Given the description of an element on the screen output the (x, y) to click on. 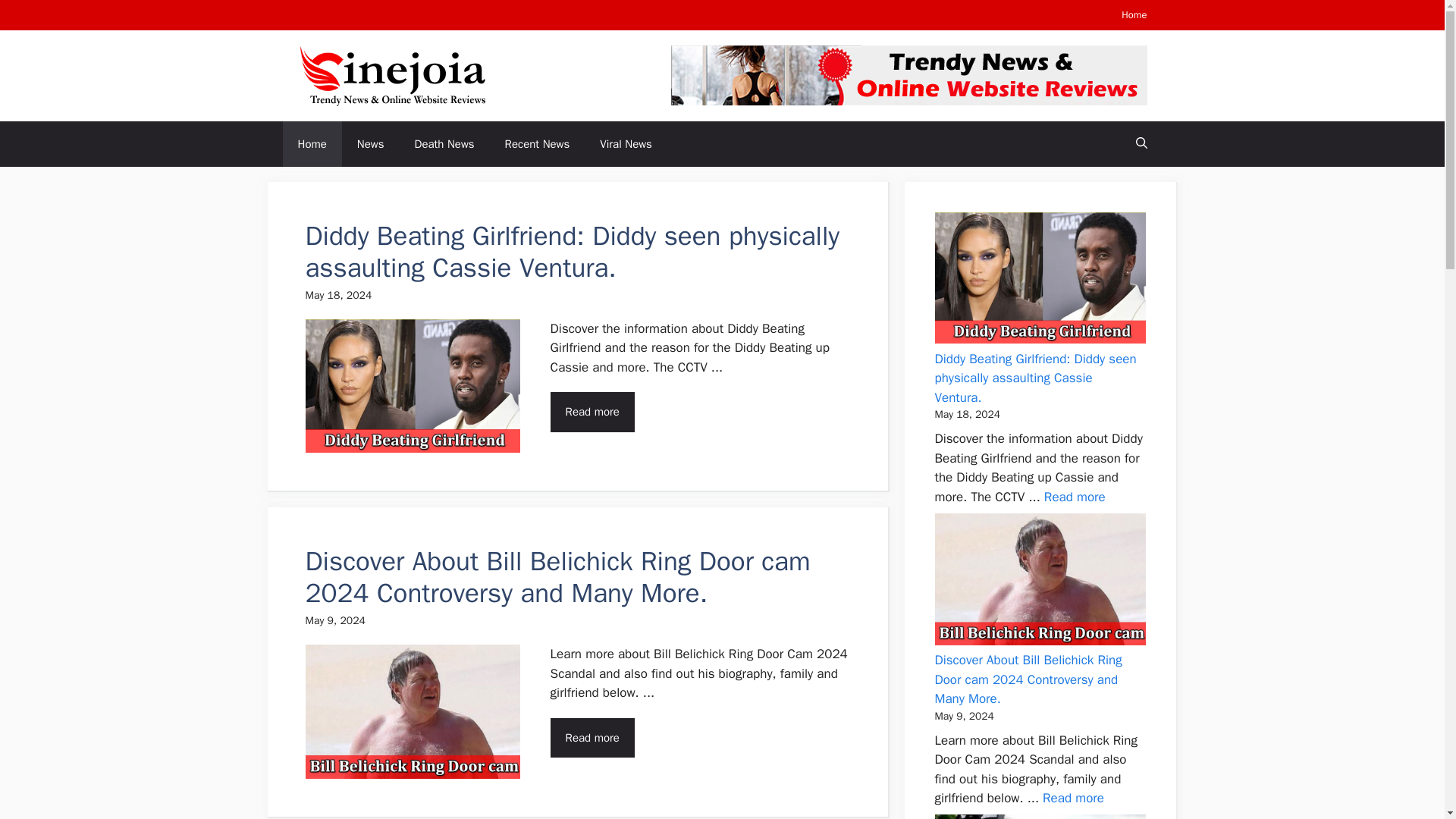
Home (311, 144)
Read more (592, 412)
Read more (592, 738)
Home (1134, 14)
News (370, 144)
Viral News (625, 144)
Read more (1072, 797)
